Given the description of an element on the screen output the (x, y) to click on. 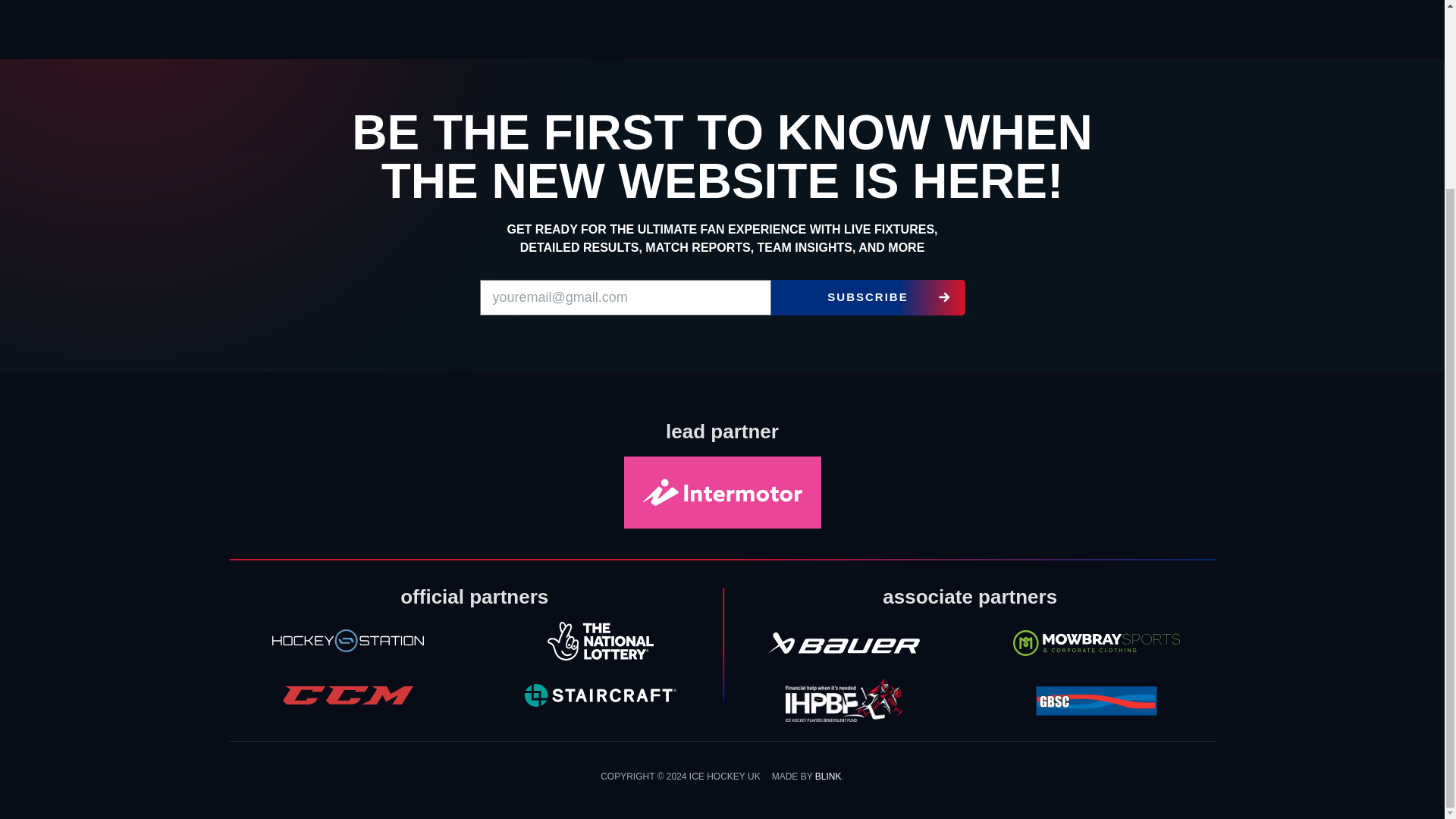
BLINK (828, 776)
SUBSCRIBE (866, 297)
